Given the description of an element on the screen output the (x, y) to click on. 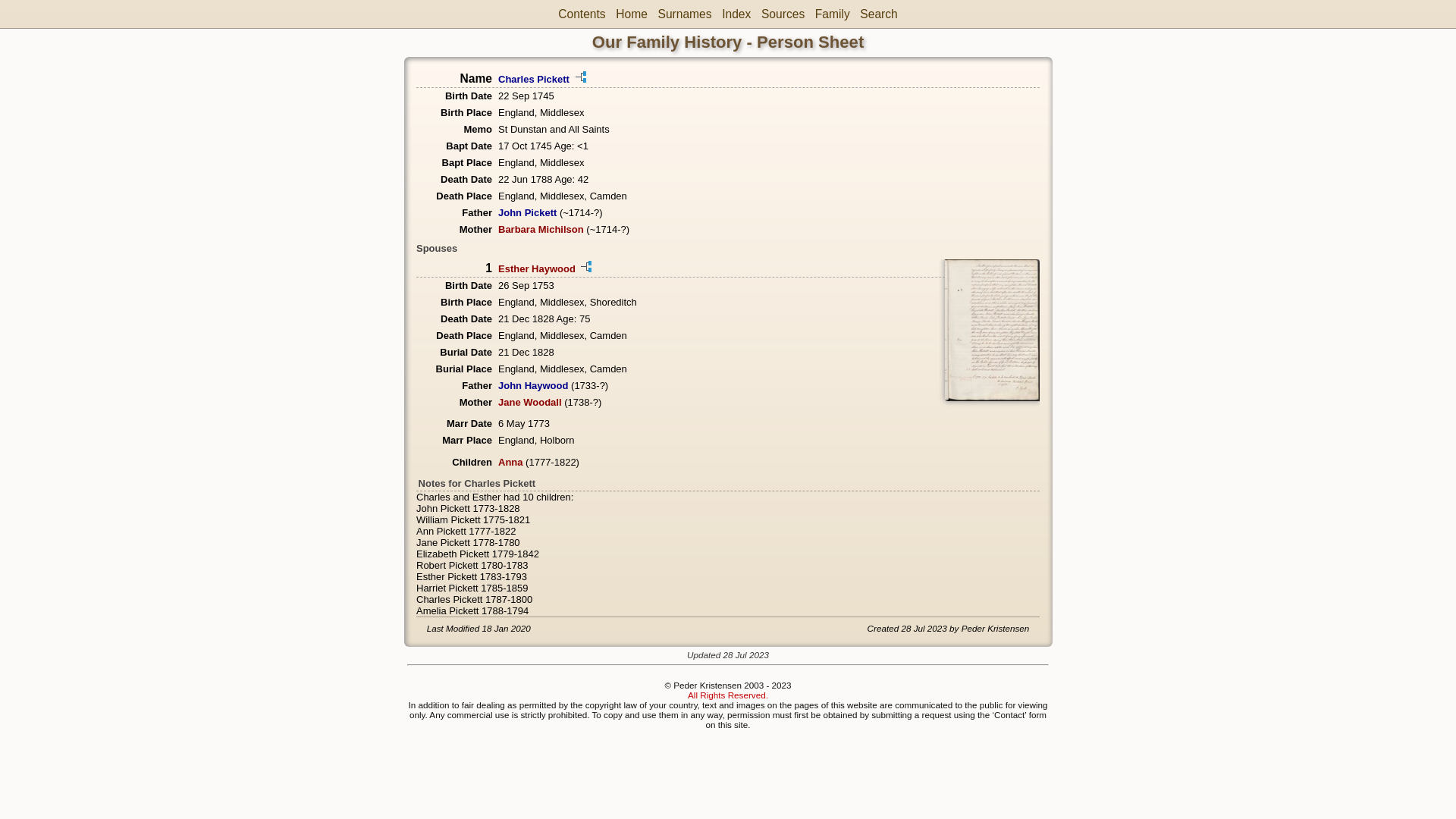
Search Element type: text (878, 13)
Anna Element type: text (510, 461)
Barbara Michilson Element type: text (540, 228)
Surnames Element type: text (684, 13)
Index Element type: text (735, 13)
Family Element type: text (832, 13)
Contents Element type: text (581, 13)
Jane Woodall Element type: text (529, 401)
Sources Element type: text (782, 13)
Home Element type: text (631, 13)
Esther Haywood Element type: text (536, 267)
John Haywood Element type: text (532, 384)
John Pickett Element type: text (527, 211)
